Given the description of an element on the screen output the (x, y) to click on. 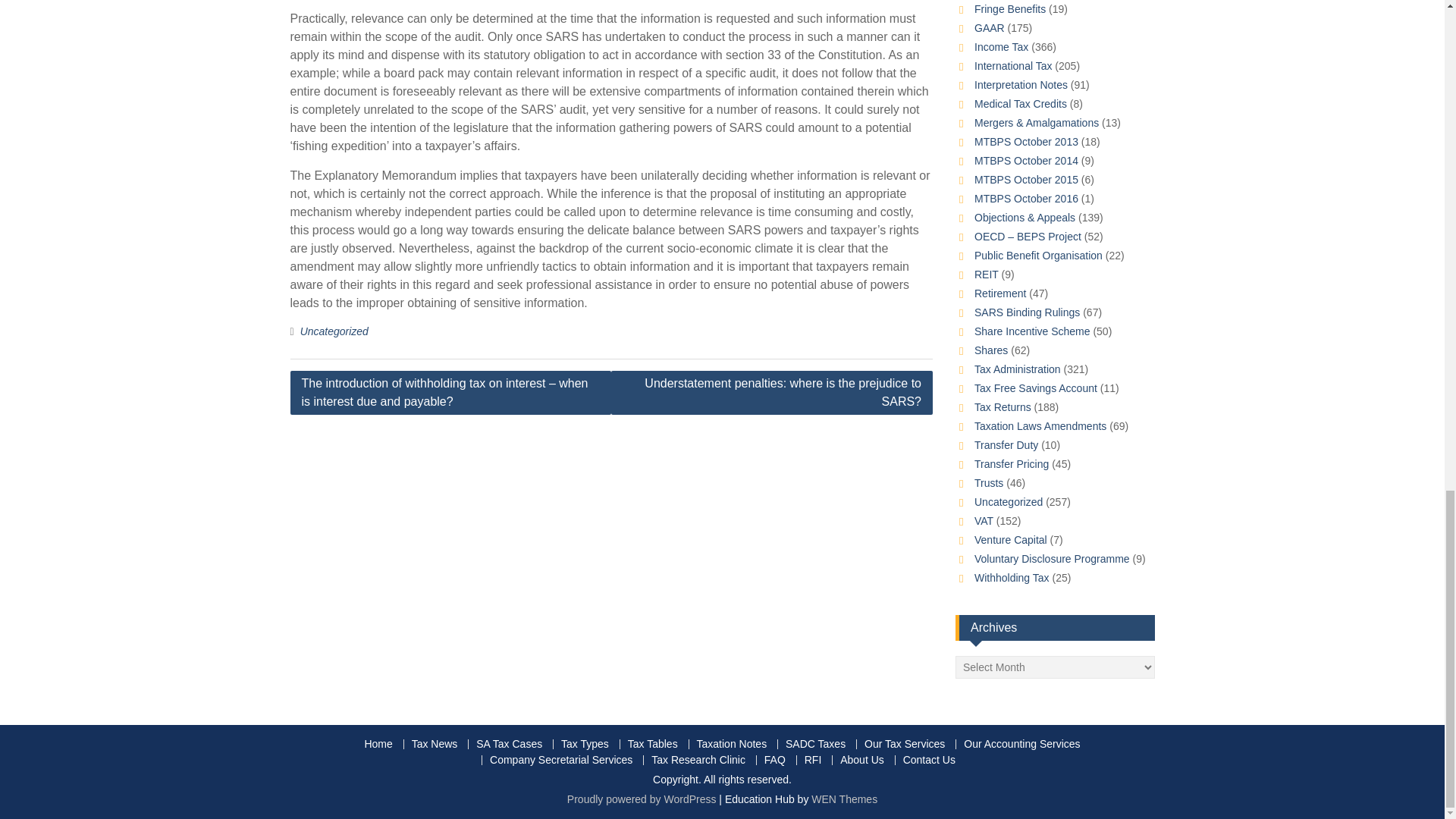
Understatement penalties: where is the prejudice to SARS? (772, 392)
Uncategorized (333, 331)
Welcome to SA Tax Guide (377, 744)
About Us (861, 759)
